Given the description of an element on the screen output the (x, y) to click on. 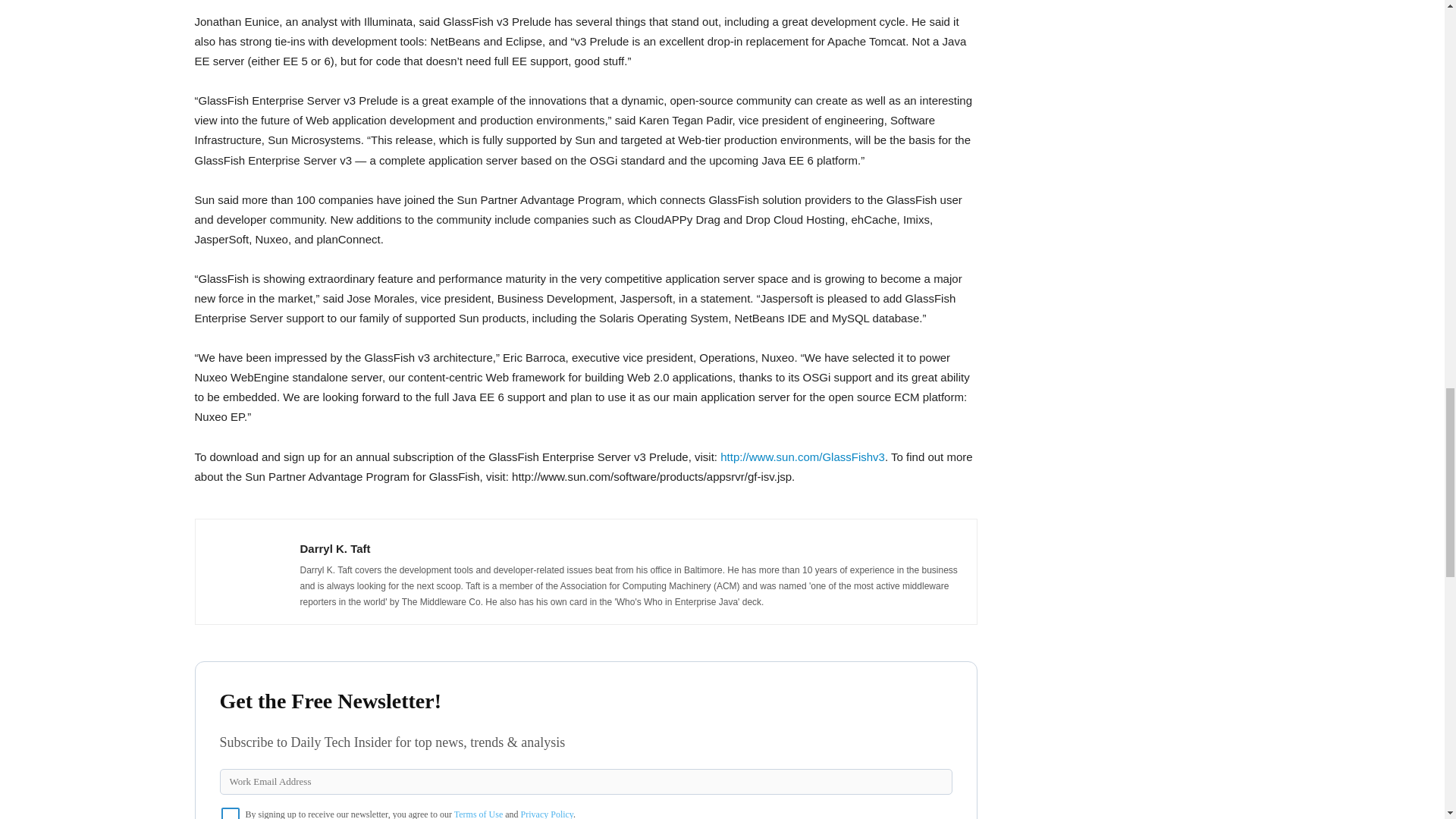
on (230, 813)
